Given the description of an element on the screen output the (x, y) to click on. 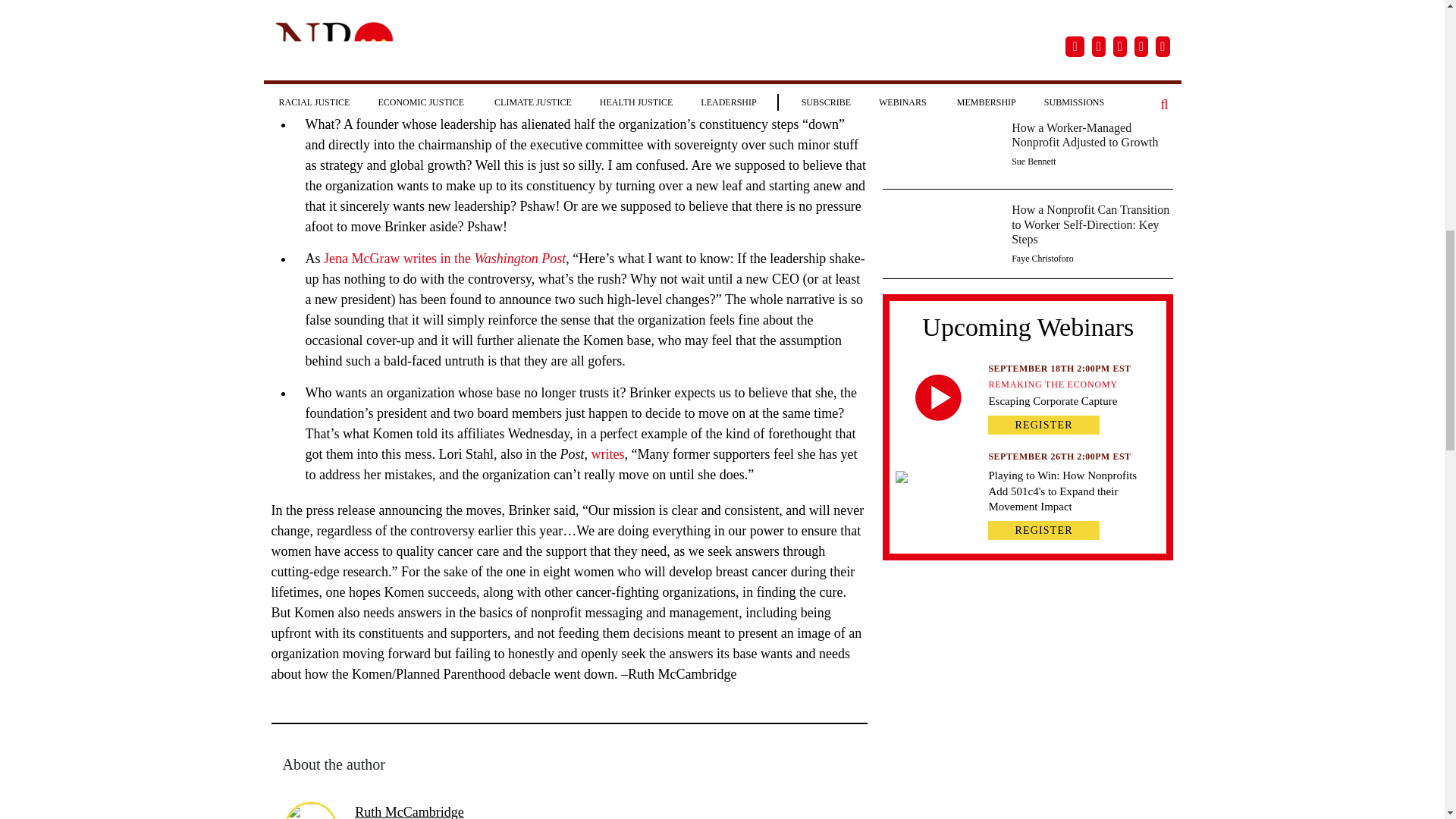
Ruth McCambridge (409, 811)
Jena McGraw writes in the Washington Post (444, 258)
Posts by Ruth McCambridge (409, 811)
Group Created with Sketch. (937, 397)
writes (607, 453)
